Given the description of an element on the screen output the (x, y) to click on. 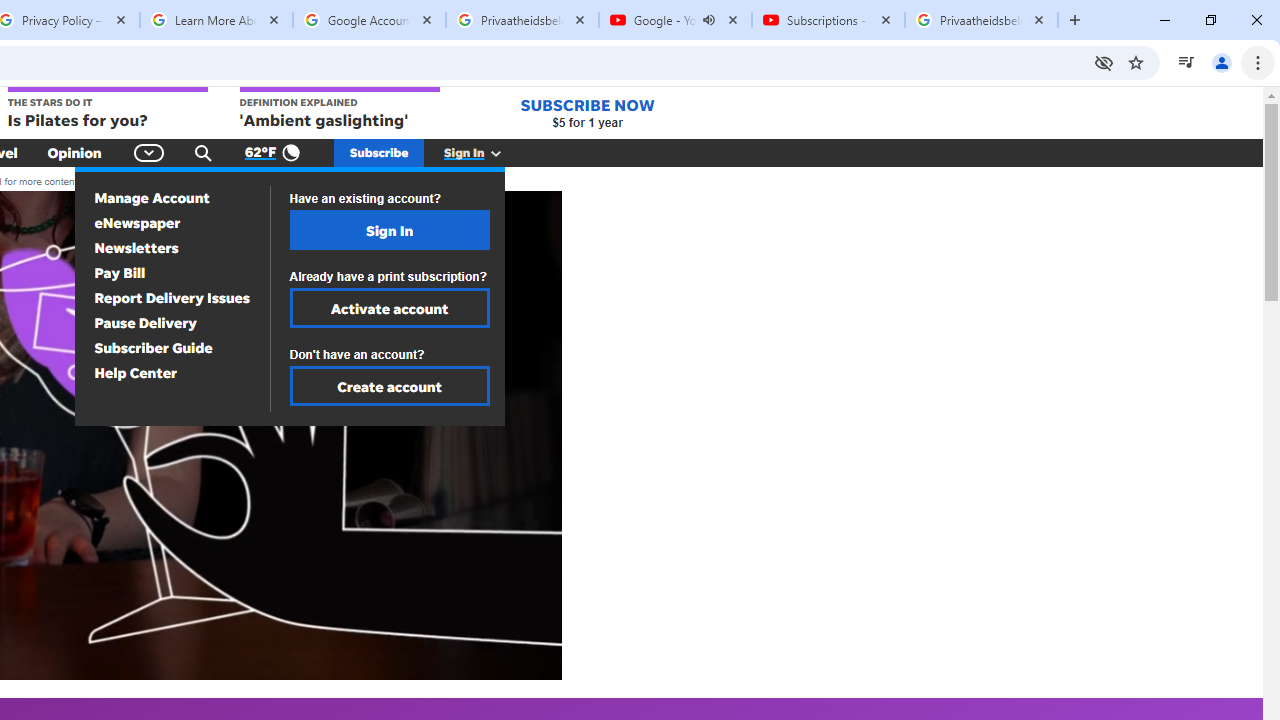
Manage Account (152, 197)
DEFINITION EXPLAINED 'Ambient gaslighting' (339, 109)
THE STARS DO IT Is Pilates for you? (106, 109)
Opinion (74, 152)
eNewspaper (137, 222)
Google Account (369, 20)
